Given the description of an element on the screen output the (x, y) to click on. 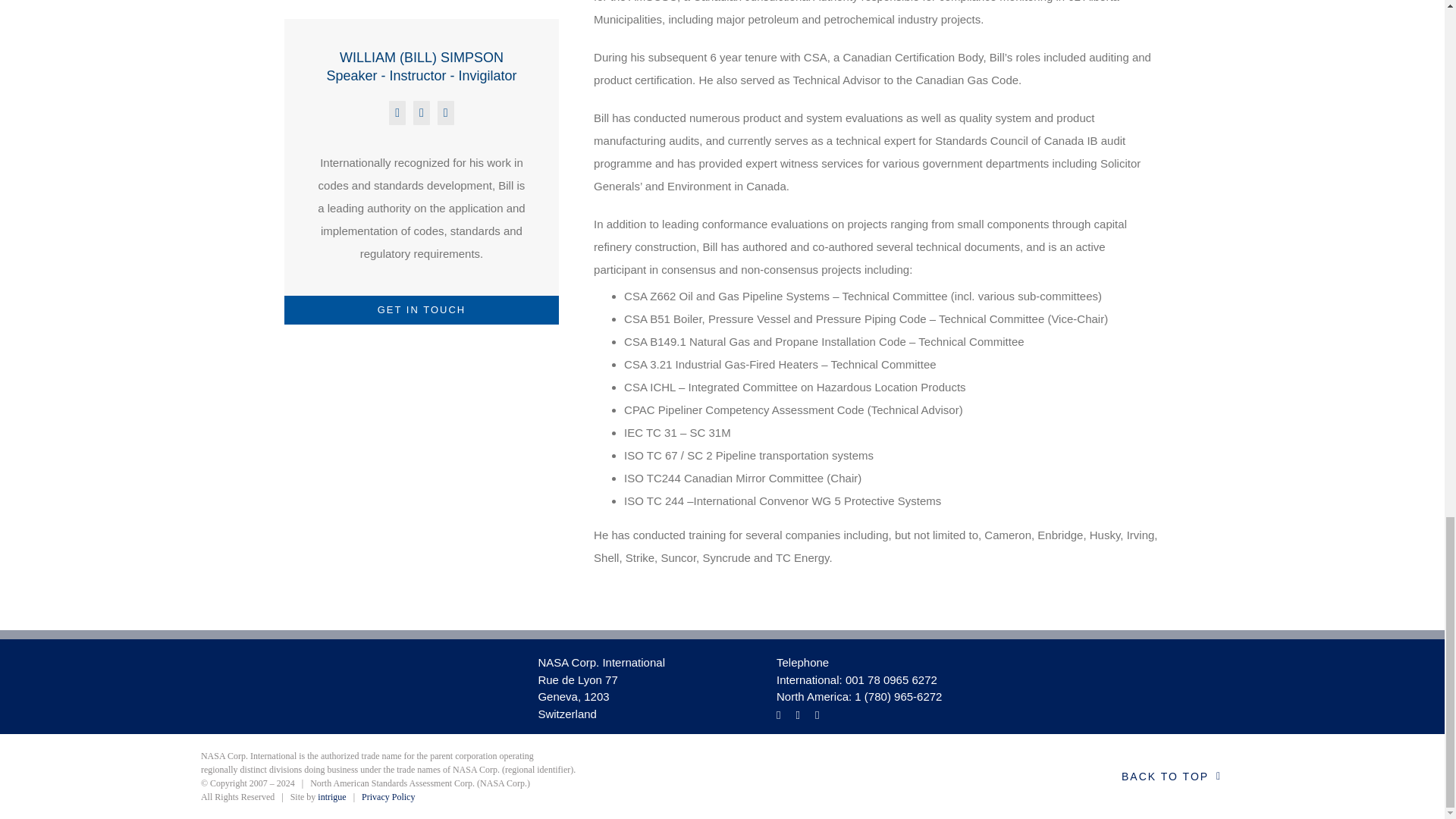
GET IN TOUCH (421, 309)
